Given the description of an element on the screen output the (x, y) to click on. 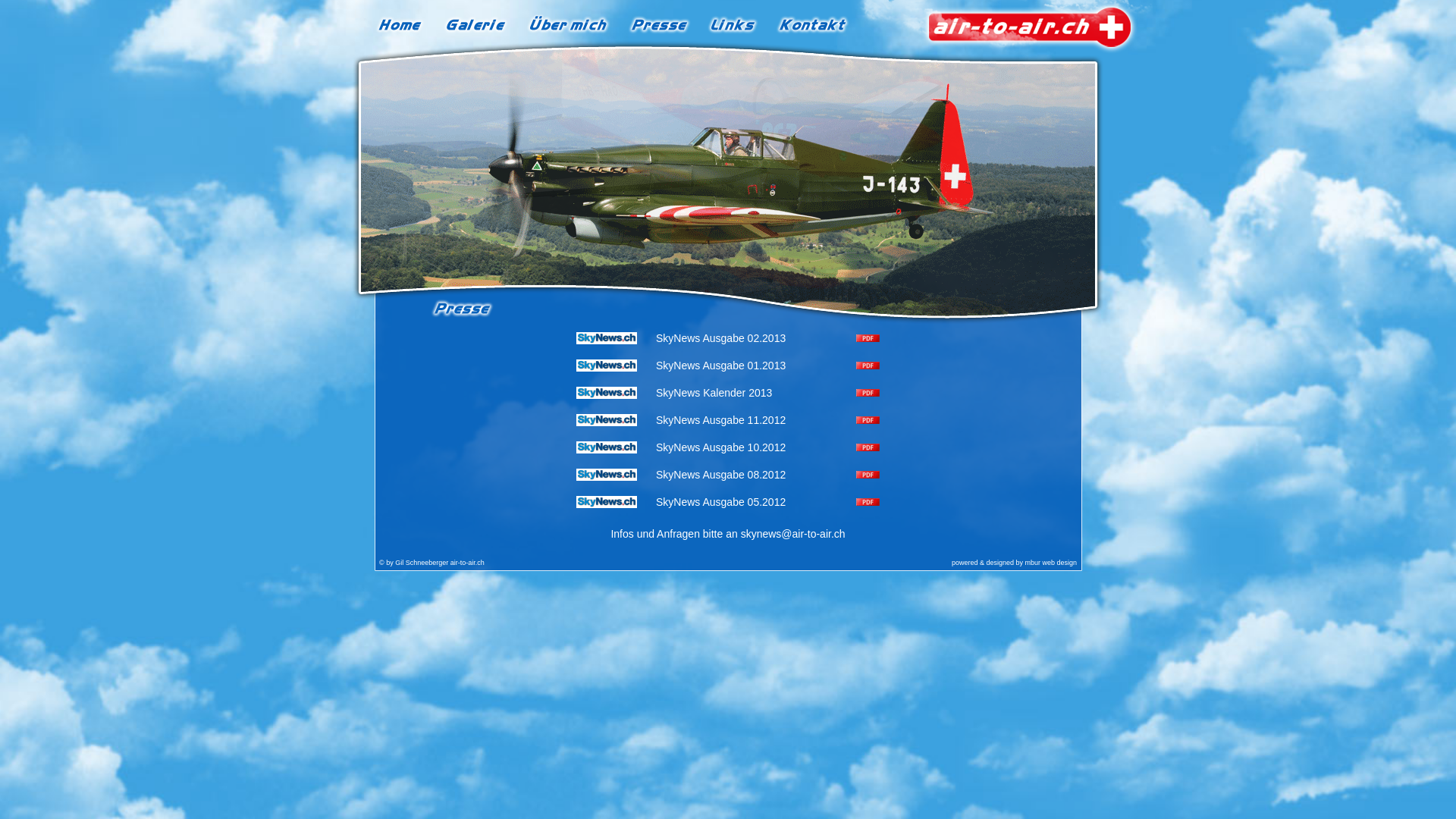
skynews@air-to-air.ch Element type: text (792, 533)
powered & designed by mbur web design Element type: text (1013, 562)
SkyNews Ausgabe 08.2012 Element type: text (720, 474)
SkyNews Ausgabe 01.2013 Element type: text (720, 365)
SkyNews Kalender 2013 Element type: text (713, 392)
SkyNews Ausgabe 02.2013 Element type: text (720, 338)
SkyNews Ausgabe 05.2012 Element type: text (720, 501)
SkyNews Ausgabe 10.2012 Element type: text (720, 447)
SkyNews Ausgabe 11.2012 Element type: text (720, 420)
